Given the description of an element on the screen output the (x, y) to click on. 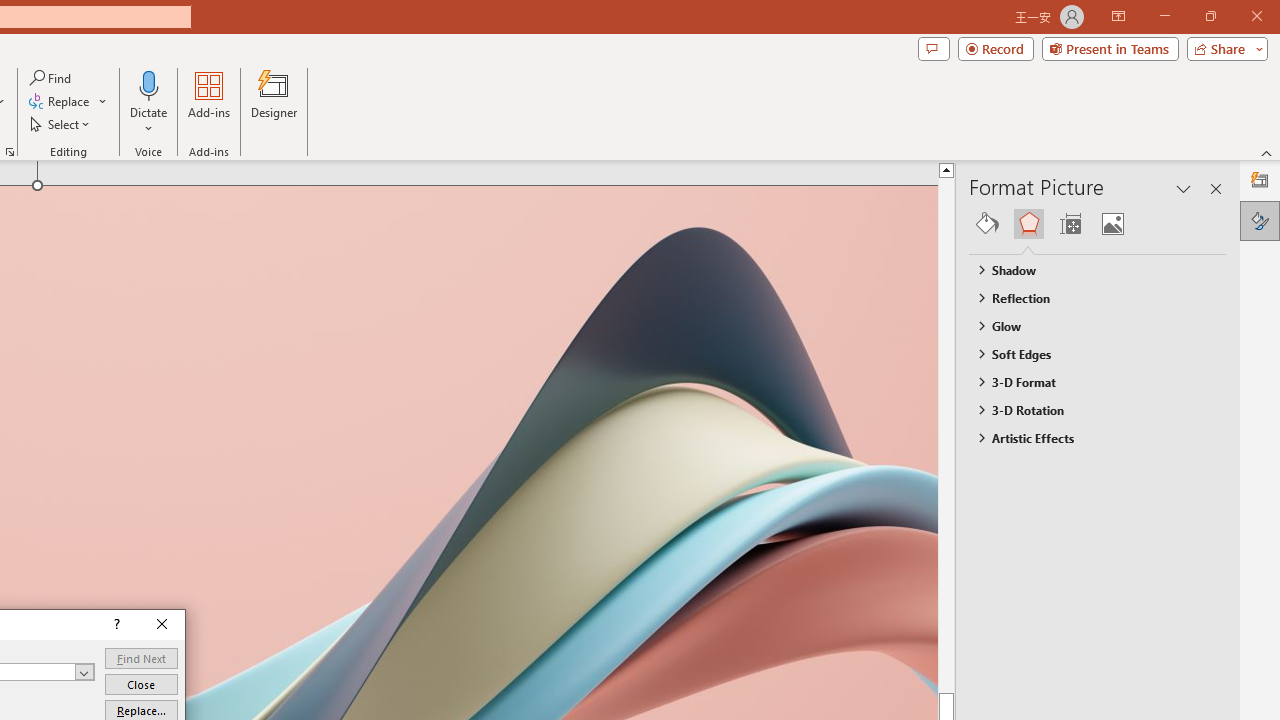
Artistic Effects (1088, 438)
Find Next (141, 658)
Fill & Line (987, 223)
Soft Edges (1088, 353)
Line up (983, 169)
Shadow (1088, 269)
Size & Properties (1070, 223)
